Given the description of an element on the screen output the (x, y) to click on. 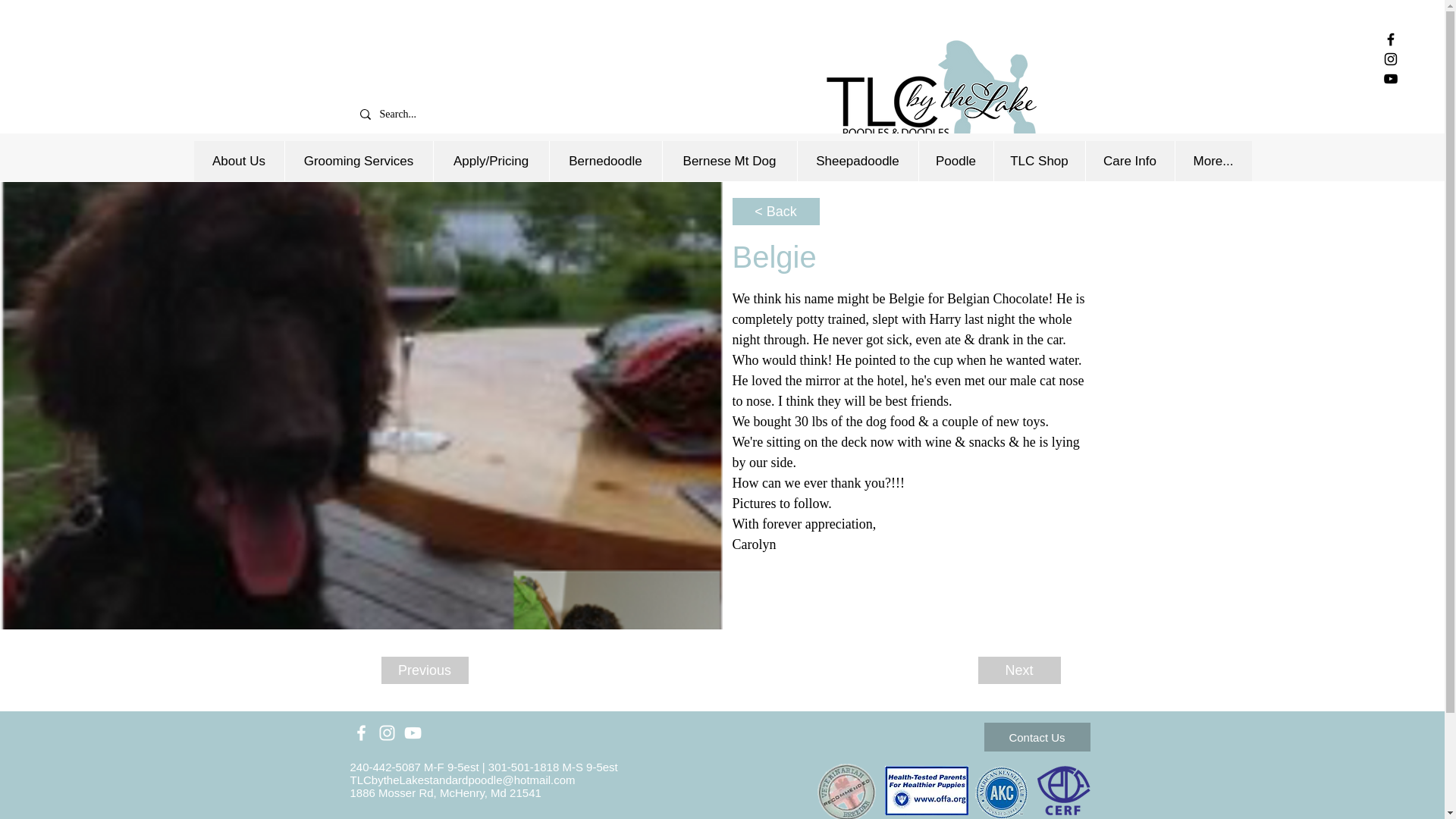
Grooming Services (357, 160)
About Us (238, 160)
Bernedoodle (605, 160)
Sheepadoodle (856, 160)
Bernese Mt Dog (728, 160)
